Given the description of an element on the screen output the (x, y) to click on. 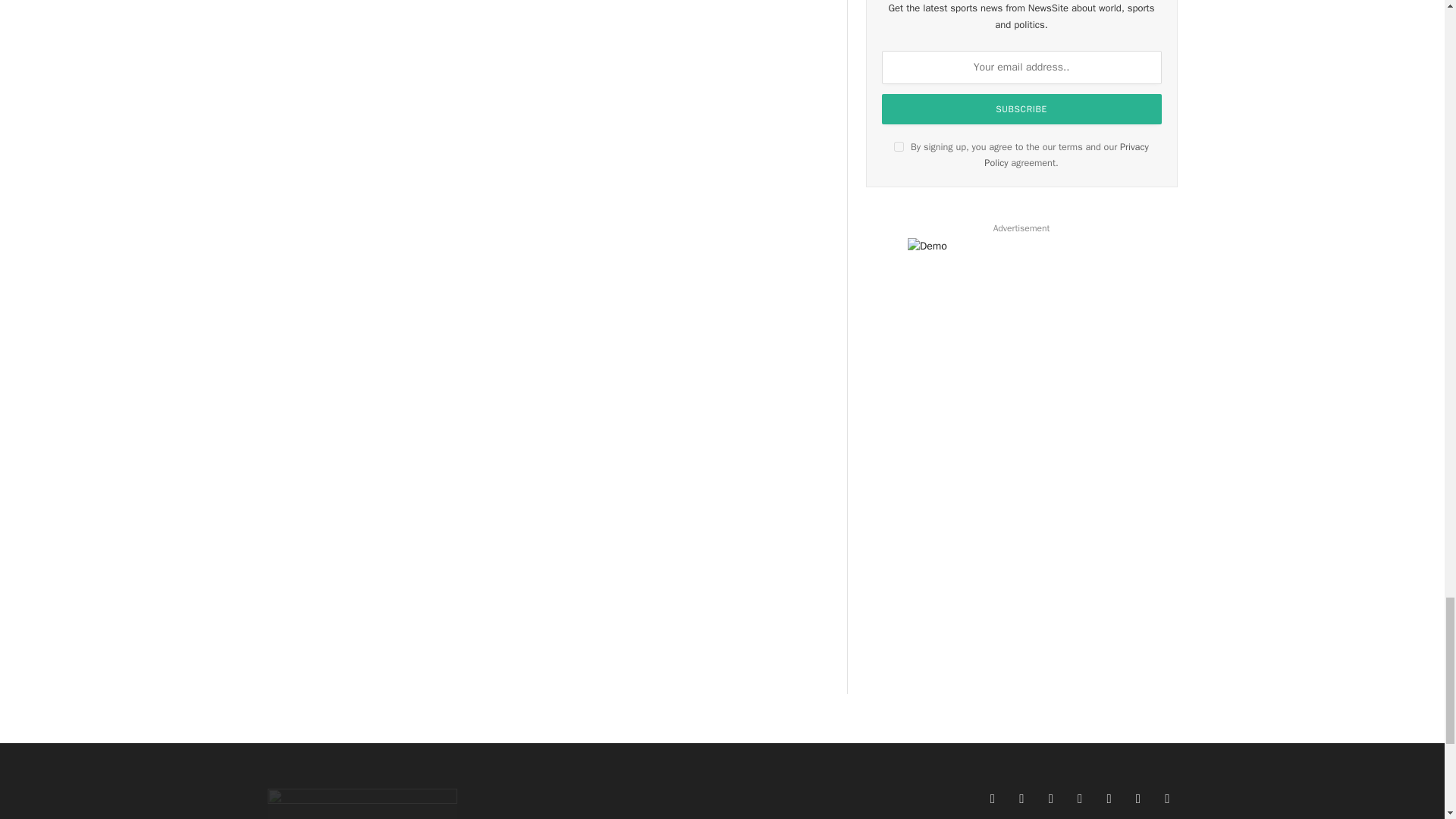
Subscribe (1021, 109)
on (898, 146)
